Given the description of an element on the screen output the (x, y) to click on. 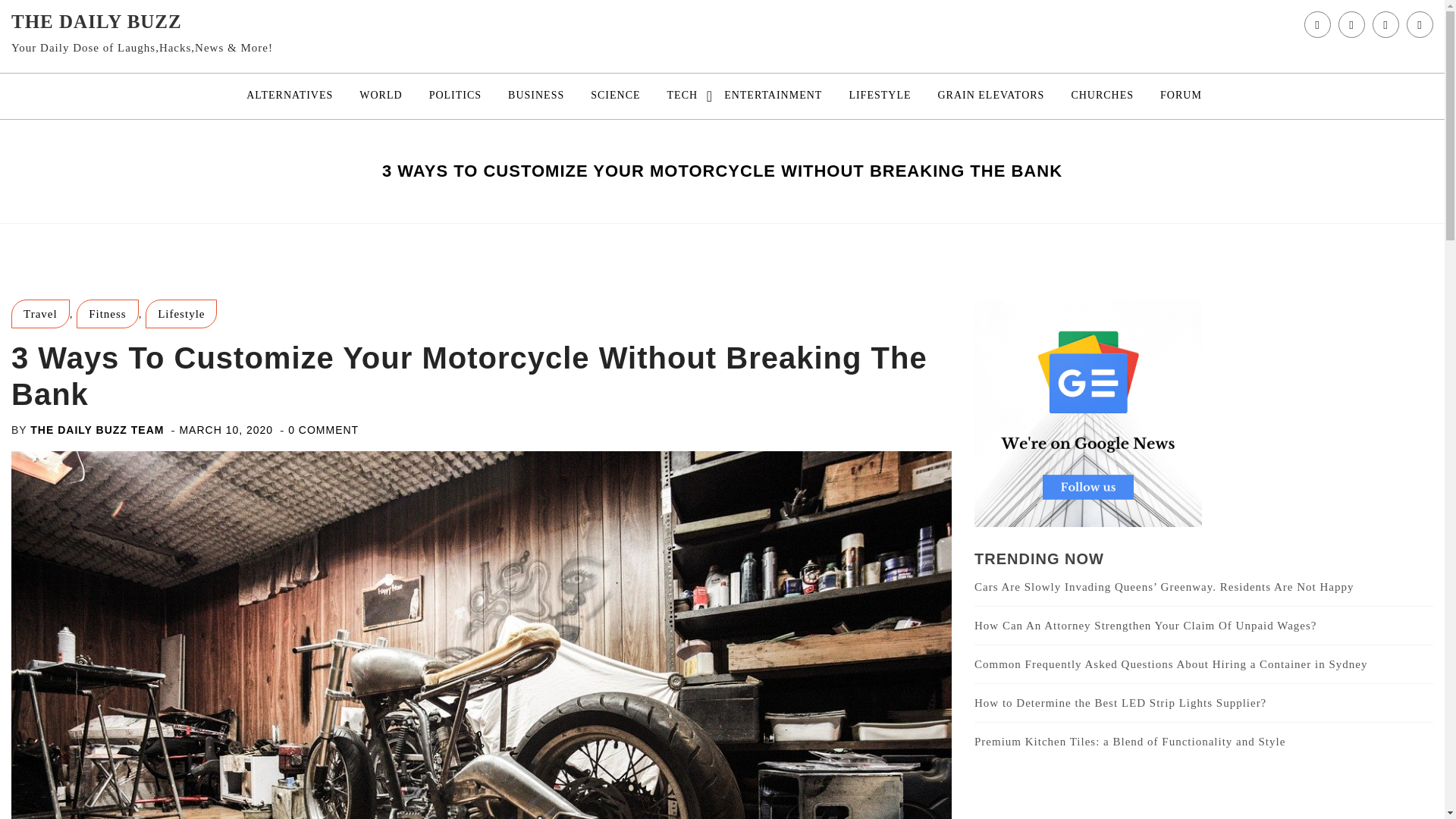
THE DAILY BUZZ TEAM (96, 429)
FORUM (1180, 95)
Fitness (107, 313)
WORLD (380, 95)
GRAIN ELEVATORS (990, 95)
Travel (40, 313)
SCIENCE (614, 95)
ALTERNATIVES (288, 95)
ENTERTAINMENT (772, 95)
